Given the description of an element on the screen output the (x, y) to click on. 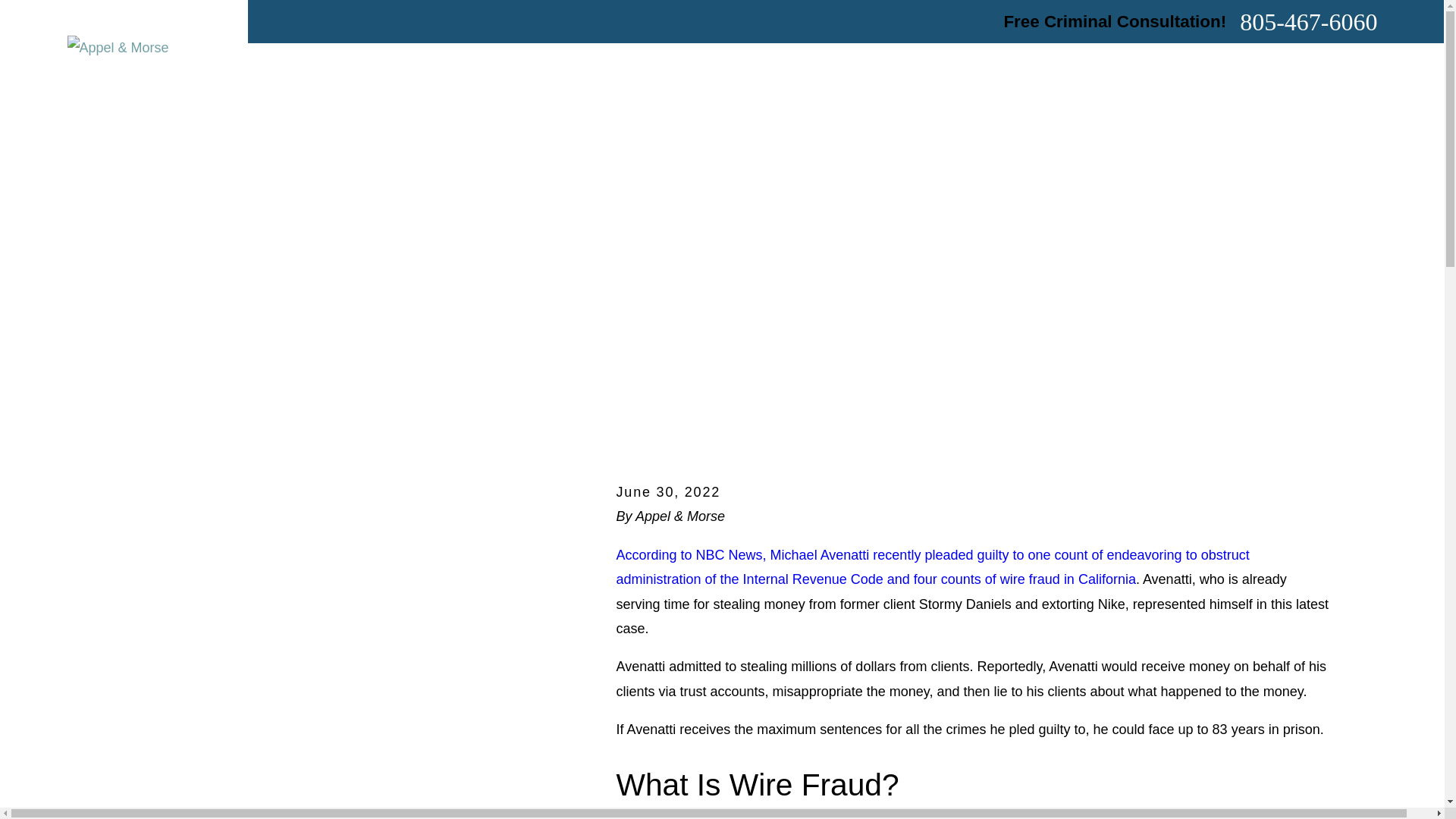
Home (117, 47)
Home (531, 68)
805-467-6060 (1308, 21)
Criminal Defense (741, 68)
About Us (617, 68)
